Given the description of an element on the screen output the (x, y) to click on. 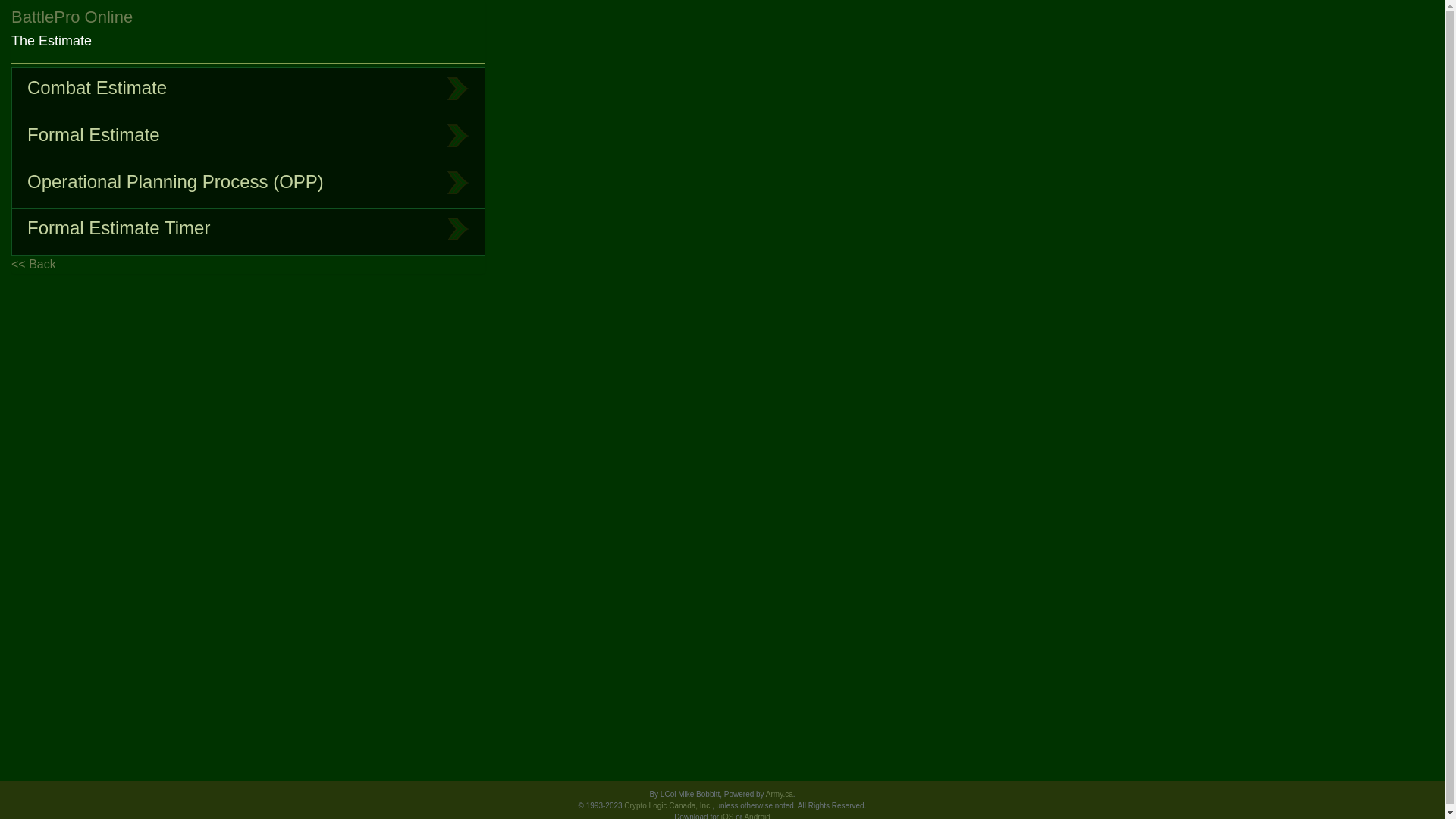
Formal Estimate Element type: text (248, 138)
BattlePro Online Element type: text (71, 16)
Formal Estimate Timer Element type: text (248, 231)
Combat Estimate Element type: text (248, 91)
Crypto Logic Canada, Inc. Element type: text (668, 805)
Army.ca Element type: text (779, 794)
Operational Planning Process (OPP) Element type: text (248, 185)
<< Back Element type: text (248, 264)
